Given the description of an element on the screen output the (x, y) to click on. 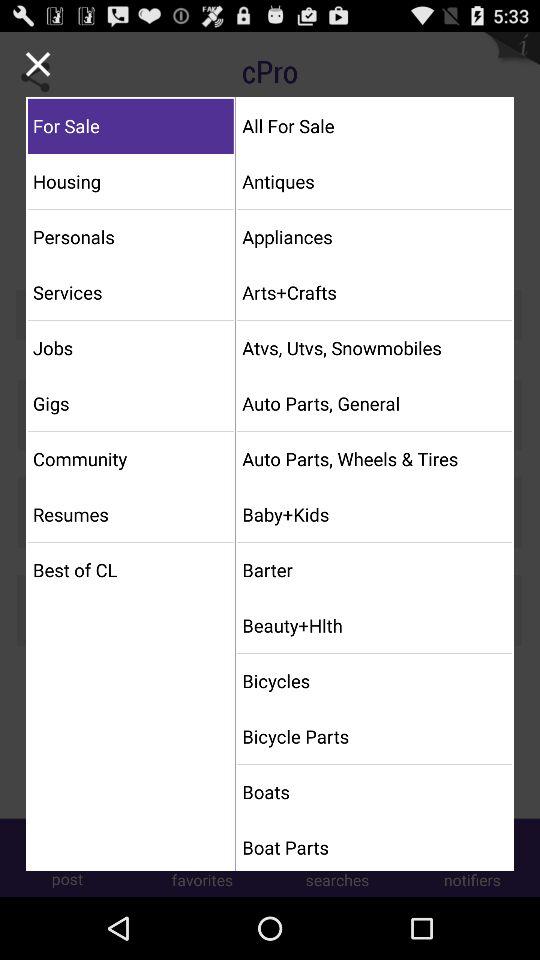
click the icon above bicycle parts item (374, 680)
